Given the description of an element on the screen output the (x, y) to click on. 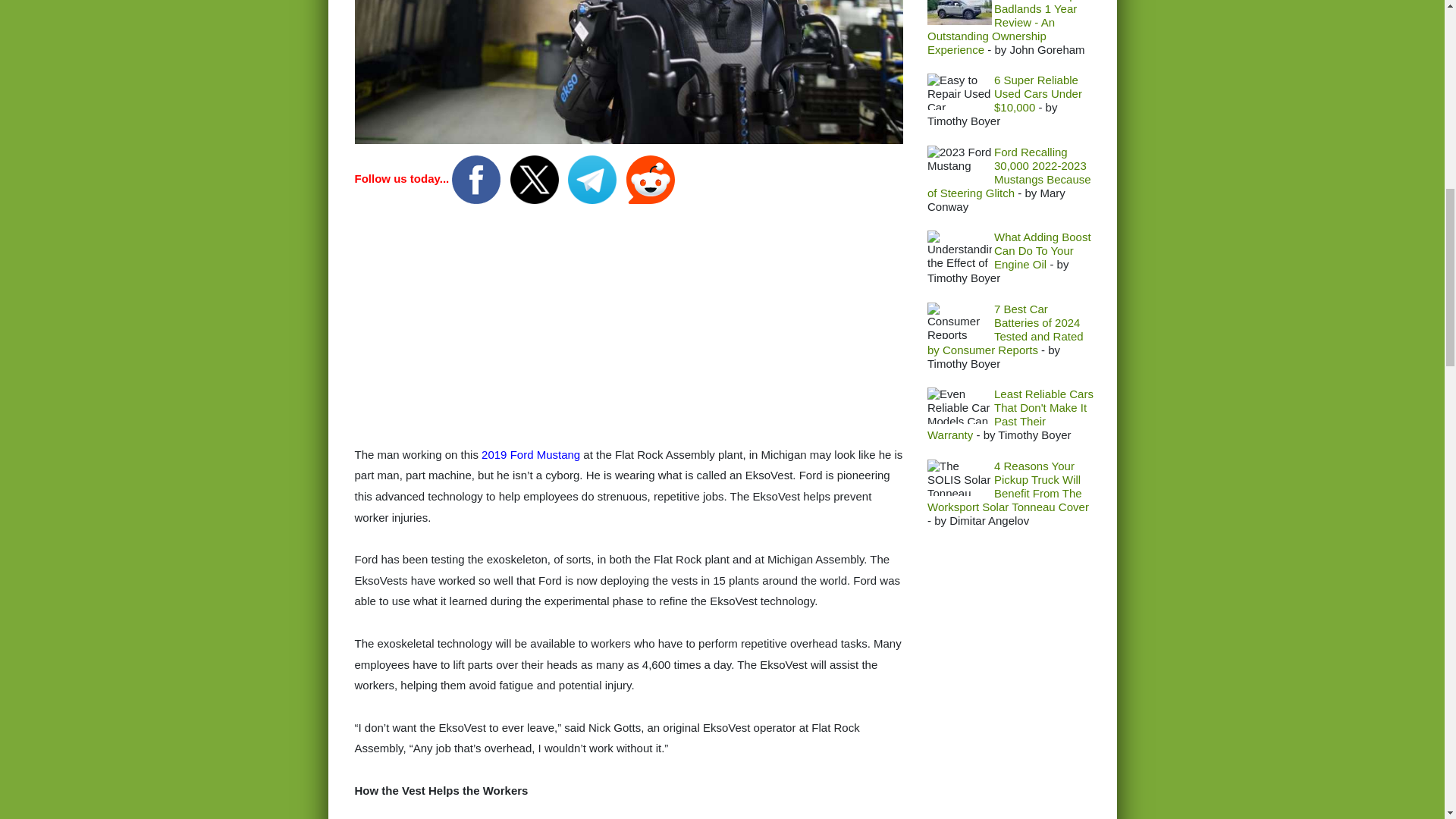
2019 Ford Mustang (529, 454)
Join us on Reddit! (650, 178)
Join us on Telegram! (593, 178)
